Given the description of an element on the screen output the (x, y) to click on. 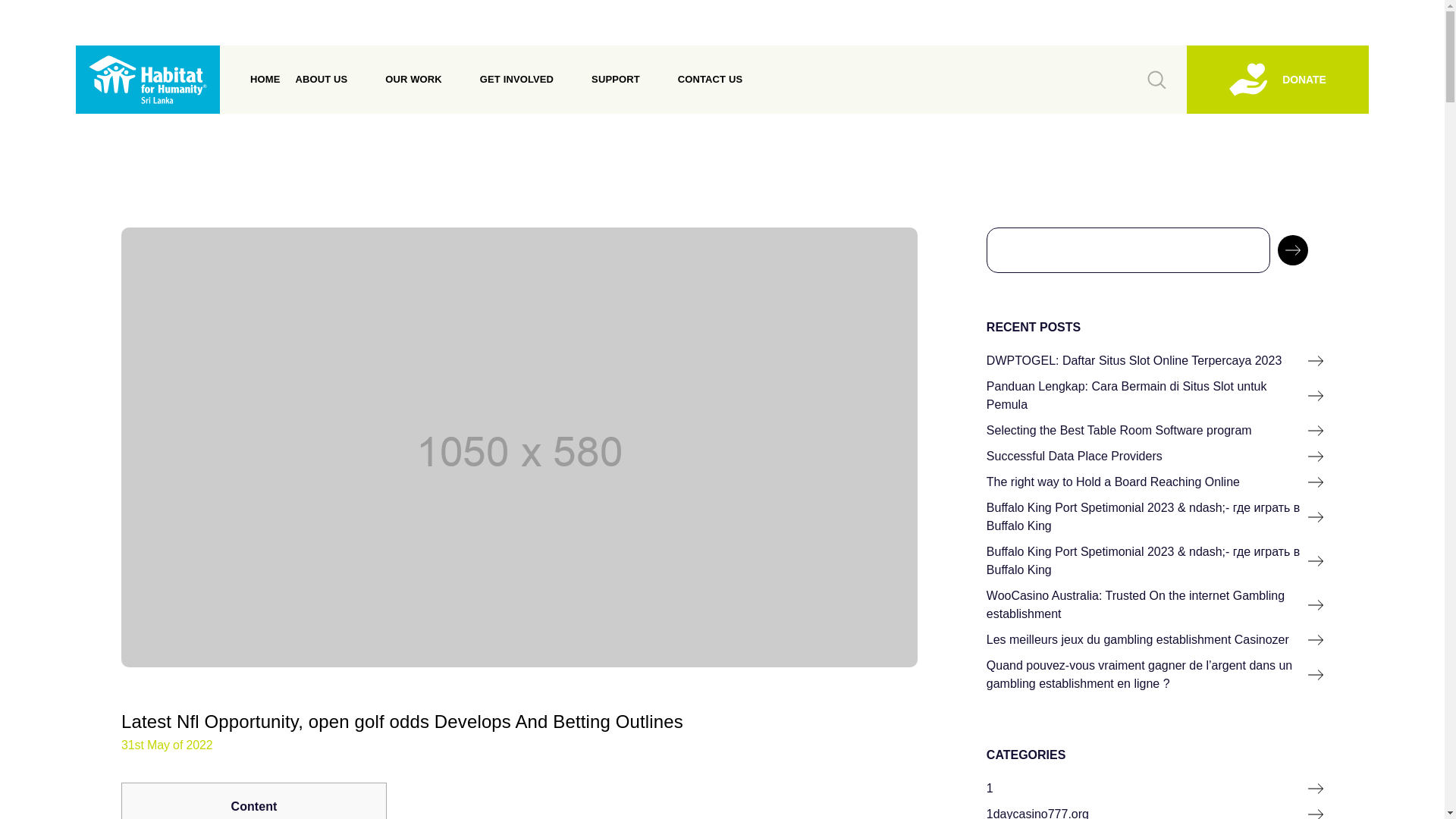
HOME (264, 79)
Habitat (147, 79)
